Given the description of an element on the screen output the (x, y) to click on. 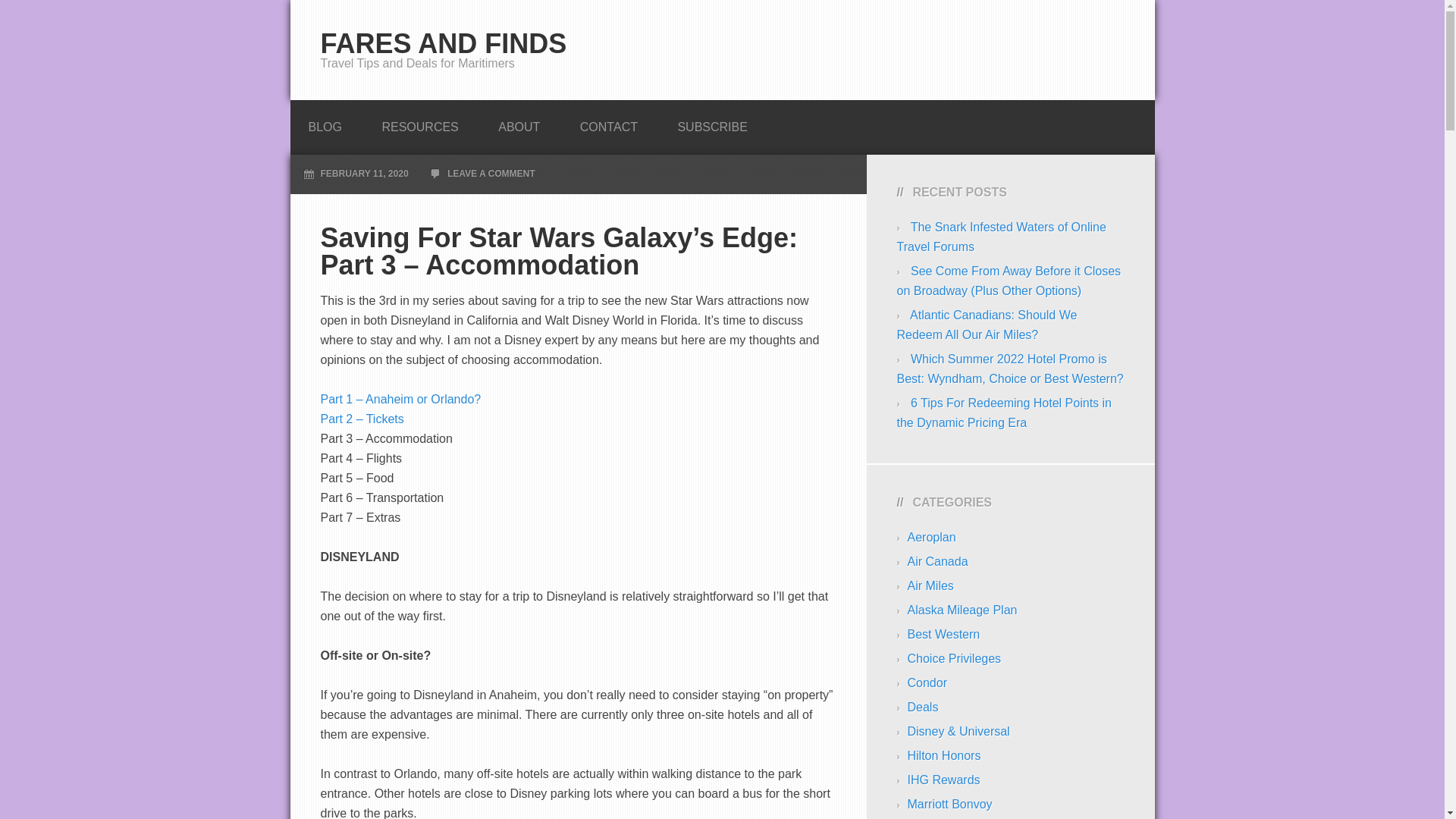
Air Canada (937, 561)
ABOUT (518, 122)
Deals (922, 707)
Air Miles (930, 585)
The Snark Infested Waters of Online Travel Forums (1000, 236)
RESOURCES (419, 122)
Alaska Mileage Plan (961, 609)
Aeroplan (931, 536)
Choice Privileges (954, 658)
